Given the description of an element on the screen output the (x, y) to click on. 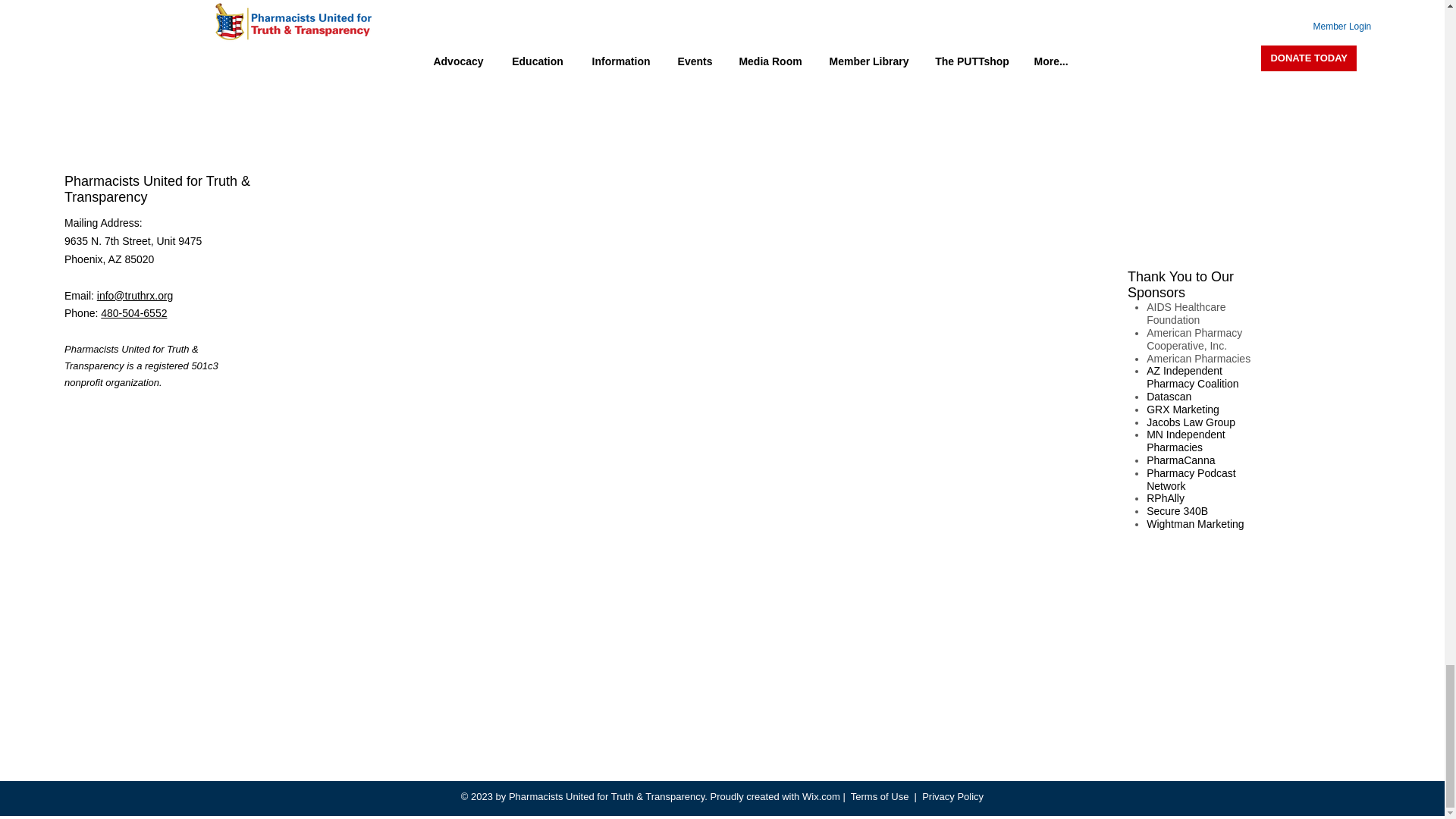
Terms of Use (879, 796)
480-504-6552 (133, 313)
Support Reform (101, 26)
AZ Independent Pharmacy Coalition (1193, 376)
Thank You to Our Sponsors (1179, 284)
Privacy Policy (952, 796)
Wix.com (821, 796)
PUTT Privacy Policy (112, 54)
Information (90, 2)
PUTT Social Media Policy (125, 81)
